Given the description of an element on the screen output the (x, y) to click on. 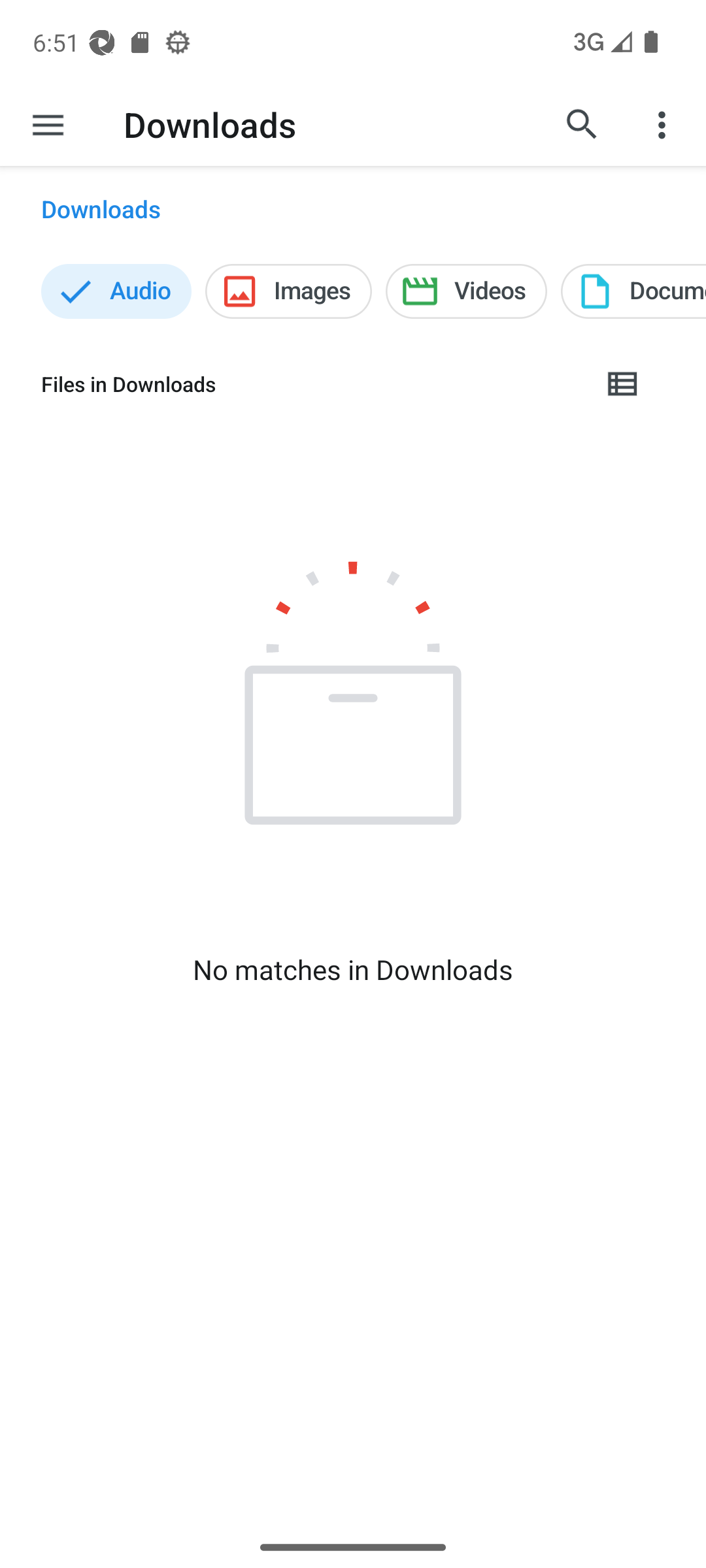
Show roots (48, 124)
Search (581, 124)
More options (664, 124)
Audio (115, 291)
Images (288, 291)
Videos (466, 291)
Documents (633, 291)
List view (623, 383)
